Given the description of an element on the screen output the (x, y) to click on. 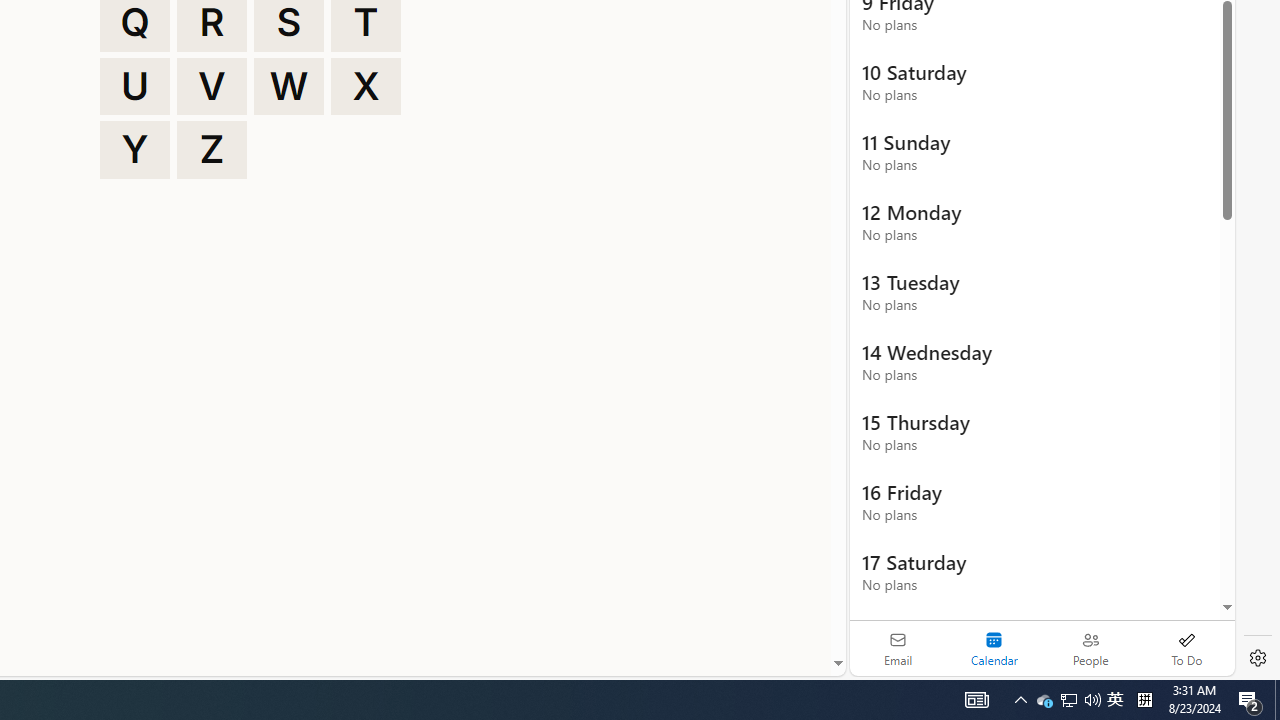
Z (212, 149)
W (289, 85)
X (365, 85)
Selected calendar module. Date today is 22 (994, 648)
To Do (1186, 648)
Z (212, 149)
Y (134, 149)
V (212, 85)
U (134, 85)
Y (134, 149)
